Given the description of an element on the screen output the (x, y) to click on. 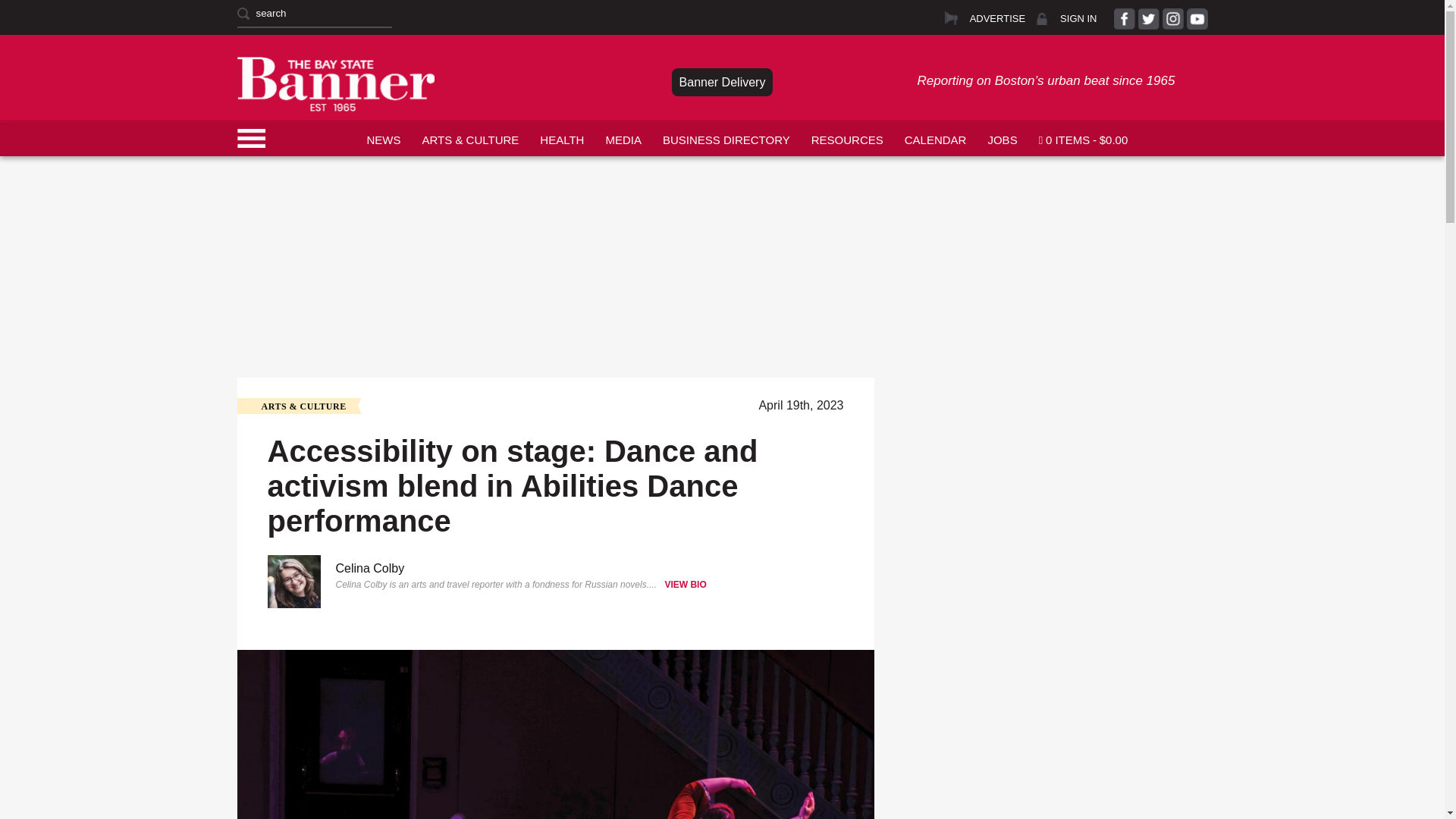
Start shopping (1082, 138)
The Bay State Banner (334, 83)
3rd party ad content (721, 191)
